Given the description of an element on the screen output the (x, y) to click on. 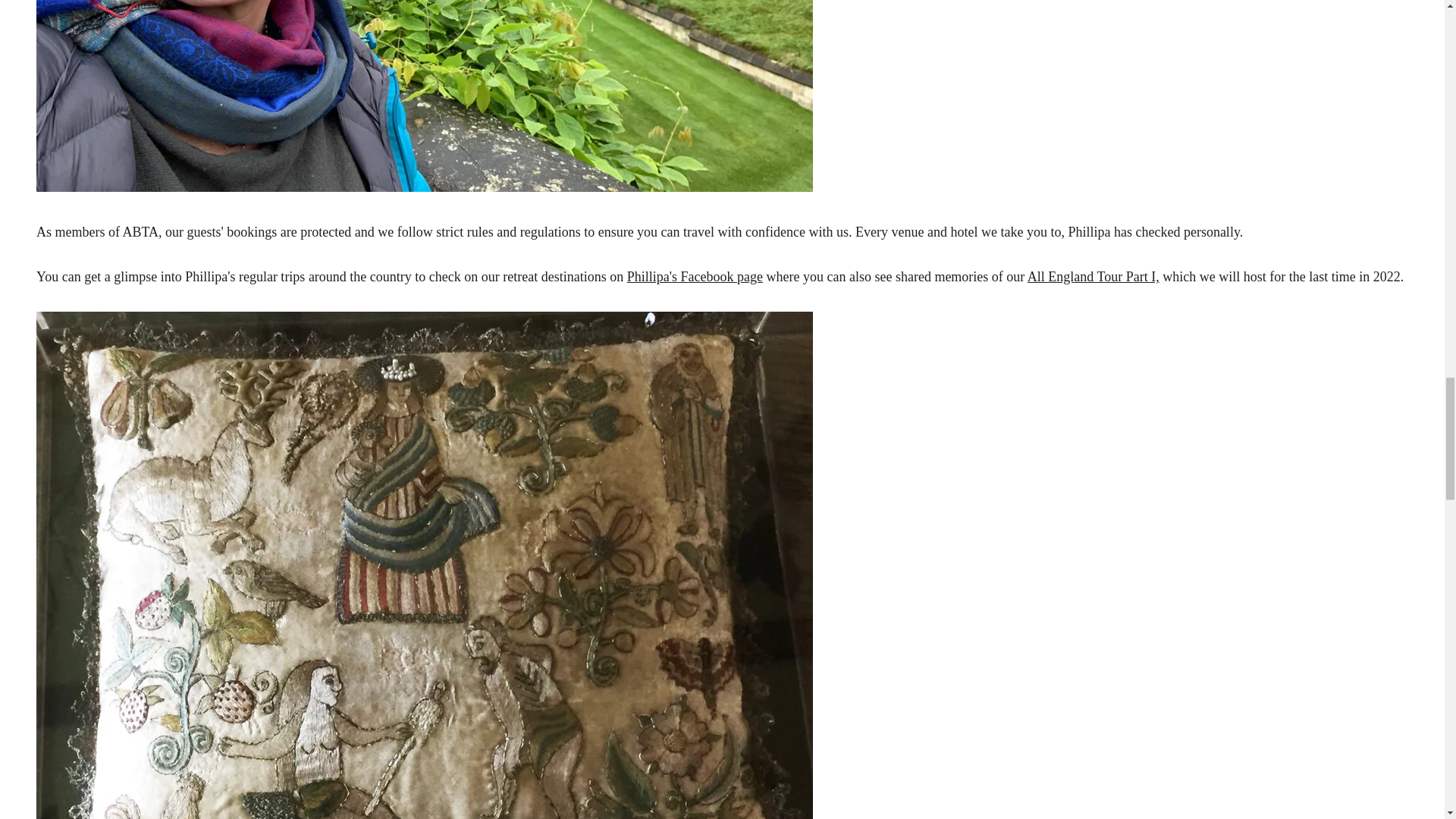
Phillipa Turnbull's Facebook Page (694, 276)
All England Tour Part I, May 2022 (1092, 276)
